Given the description of an element on the screen output the (x, y) to click on. 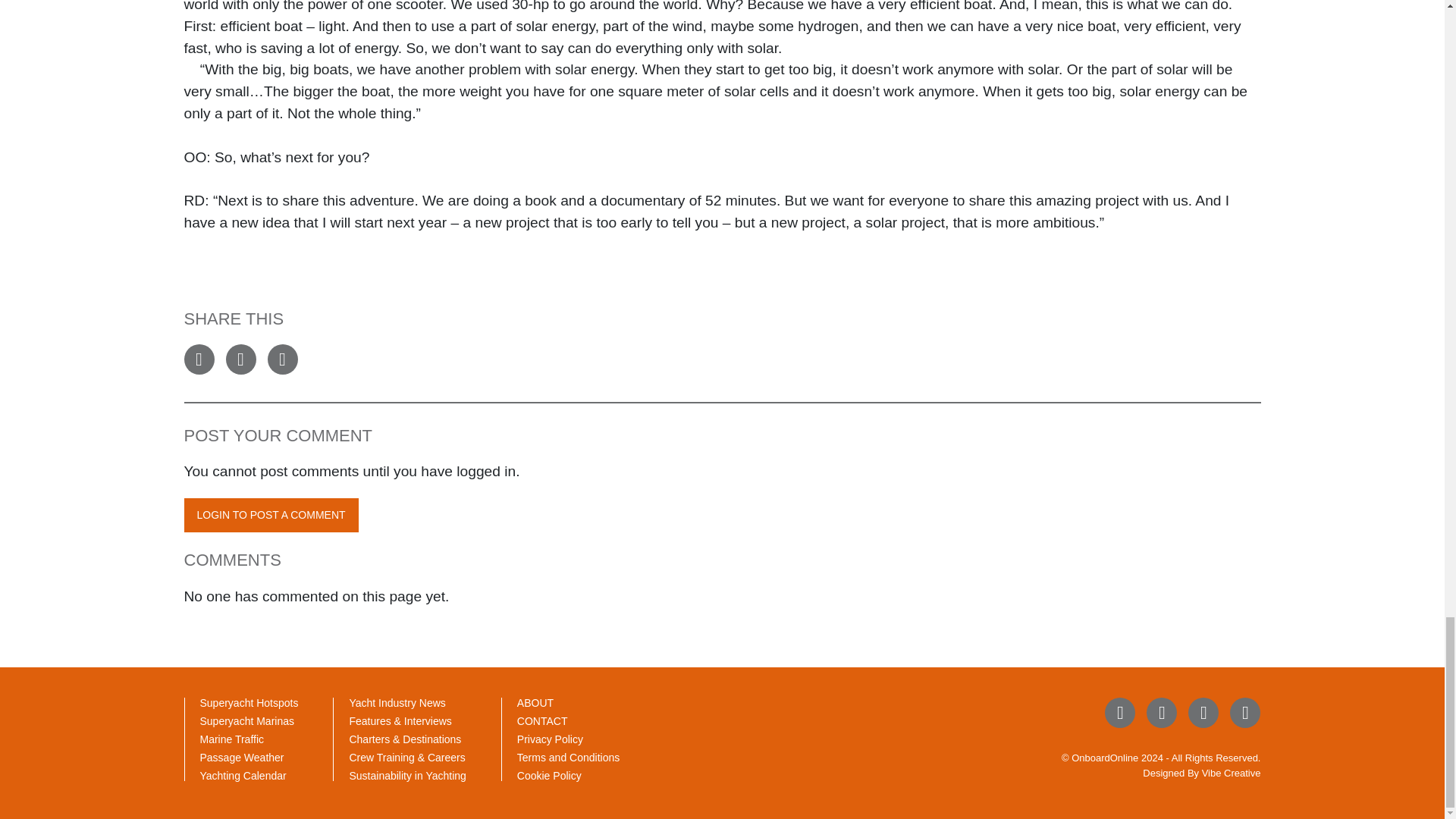
Yacht Industry News (397, 702)
Sustainability in Yachting (407, 775)
Login to post a comment (270, 514)
Superyacht Hotspots (249, 702)
Superyacht Marinas (247, 720)
Superyacht Hotspots (249, 702)
Superyacht Marinas (247, 720)
Marine Traffic (232, 739)
Share on LinkedIn (281, 358)
Passage Weather (241, 757)
Yachting Calendar (243, 775)
ABOUT (534, 702)
LOGIN TO POST A COMMENT (270, 514)
